Given the description of an element on the screen output the (x, y) to click on. 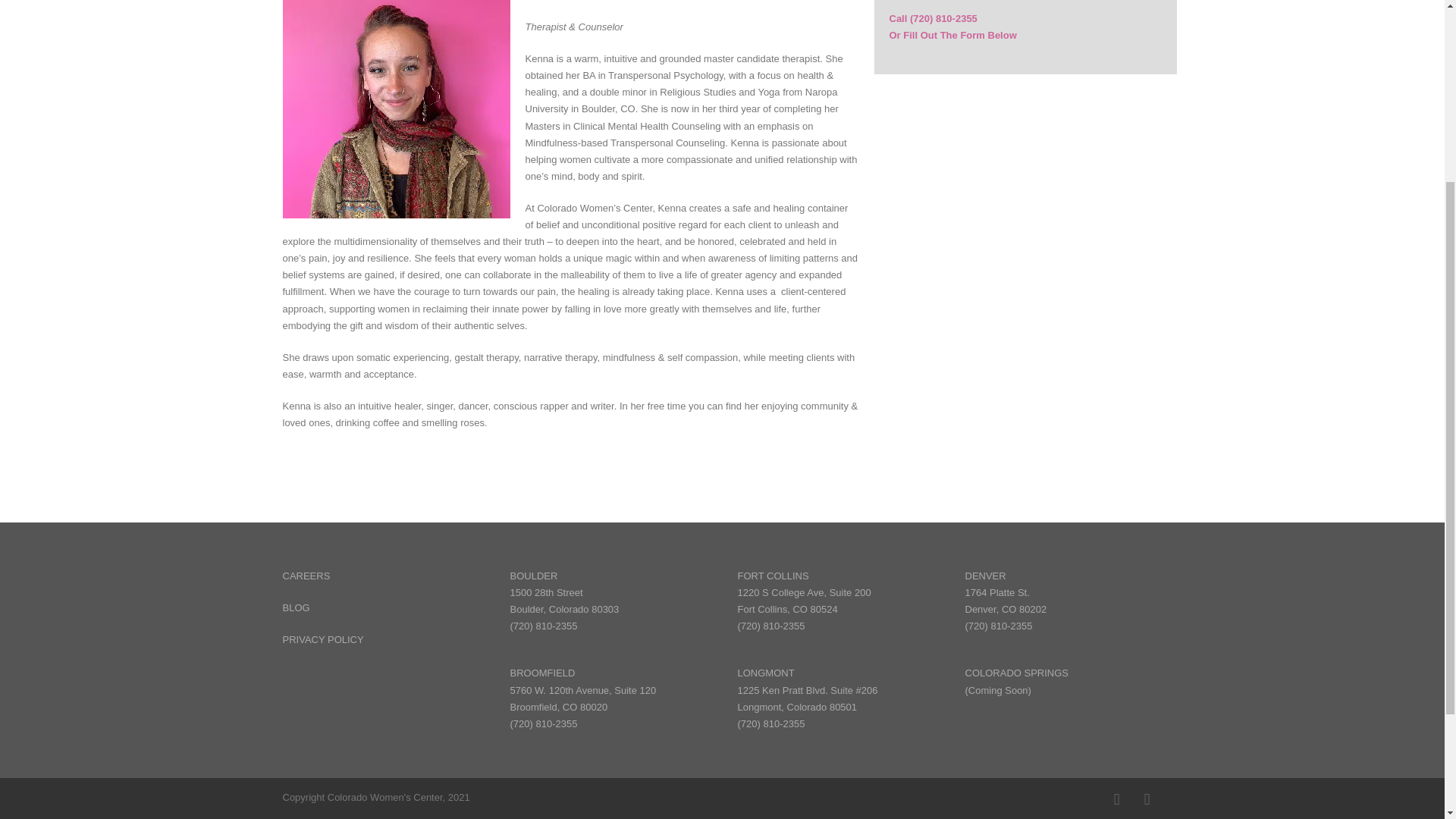
Facebook (1115, 798)
Instagram (1146, 798)
